Given the description of an element on the screen output the (x, y) to click on. 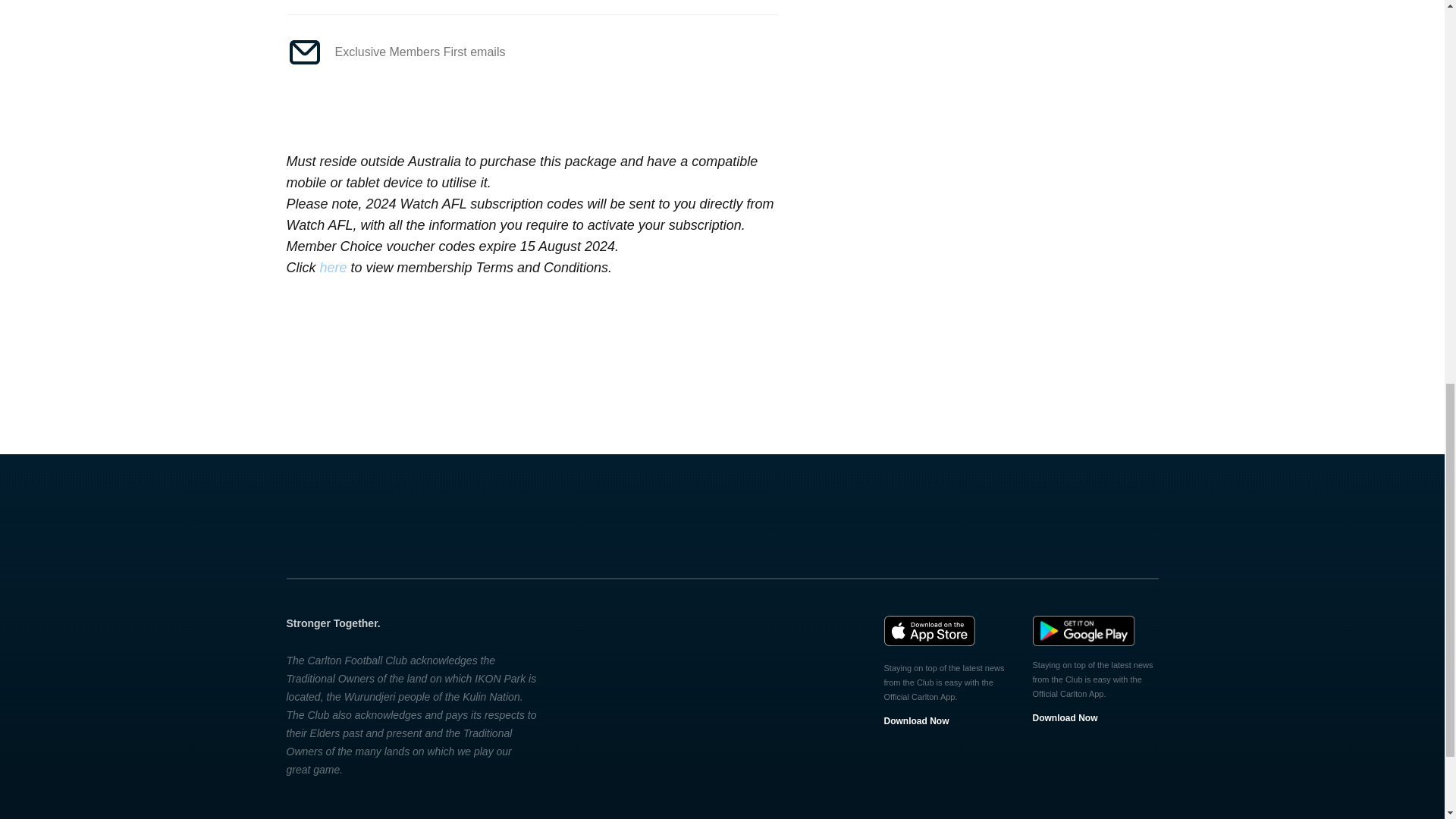
Download Now (1064, 717)
Download Now (916, 720)
here (333, 267)
